Given the description of an element on the screen output the (x, y) to click on. 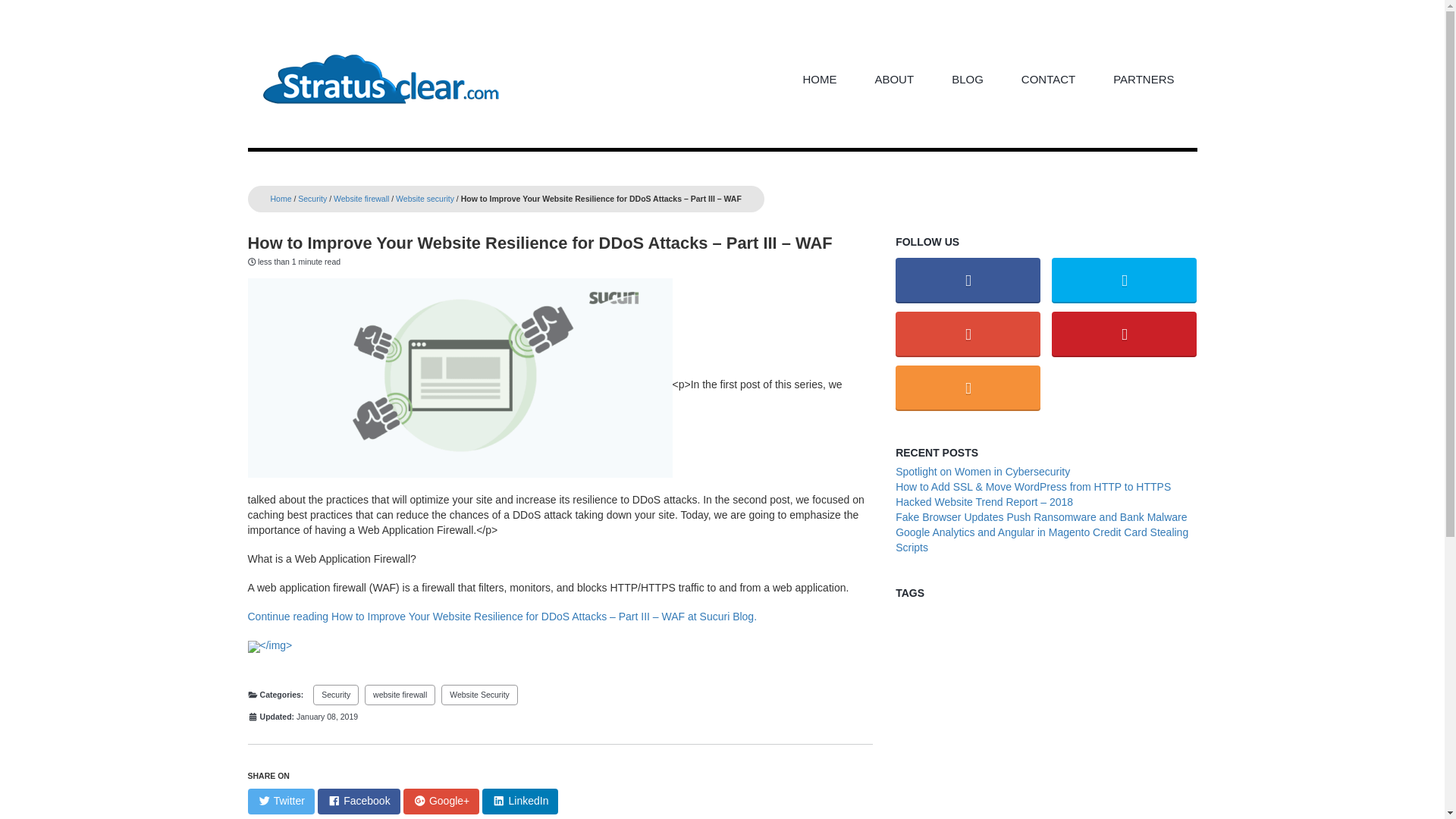
Facebook (358, 801)
Fake Browser Updates Push Ransomware and Bank Malware (1040, 517)
Website security (425, 198)
BLOG (968, 78)
Website Security (479, 694)
Website firewall (360, 198)
Security (335, 694)
Share on LinkedIn (519, 801)
Security (312, 198)
